Given the description of an element on the screen output the (x, y) to click on. 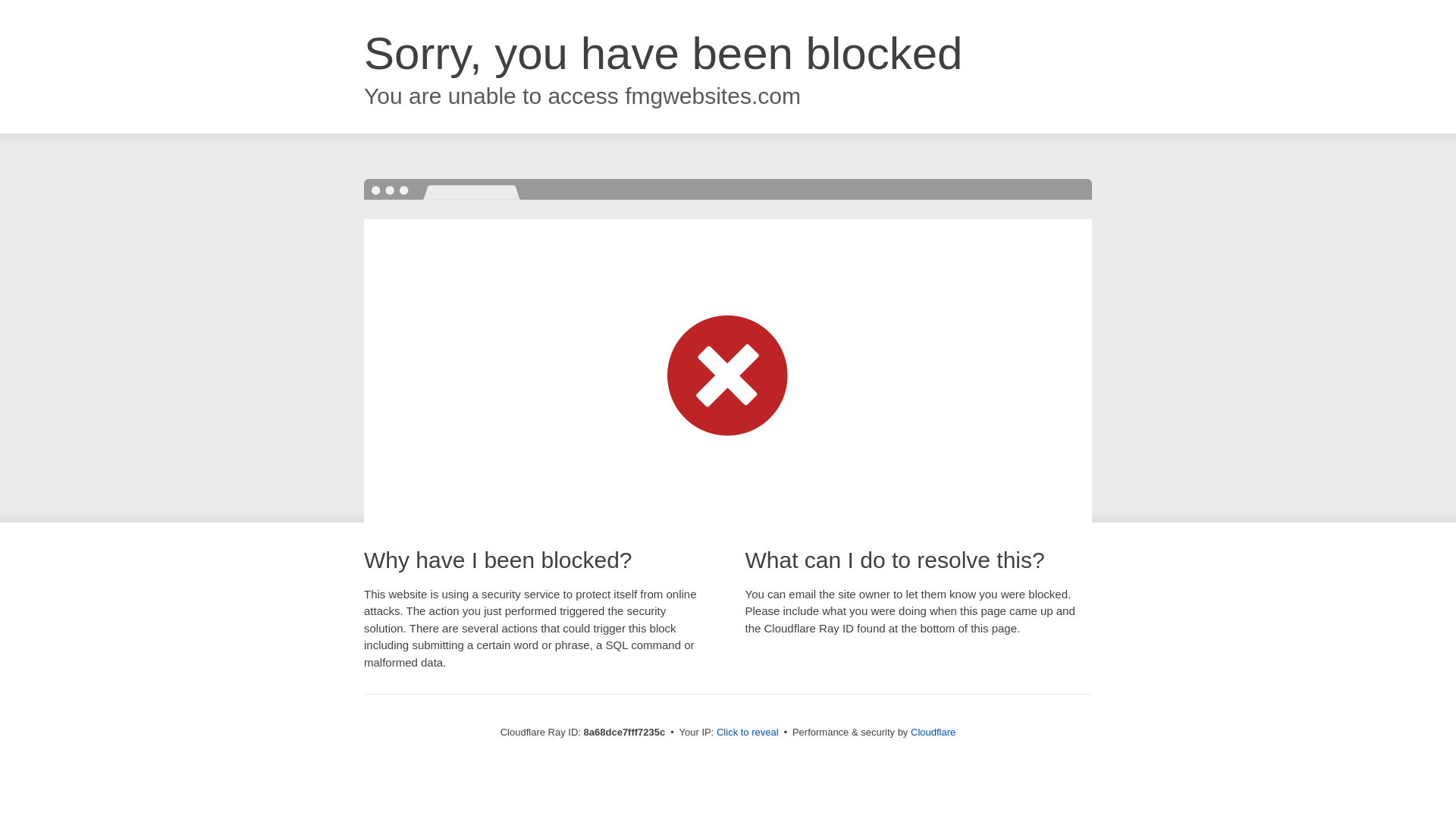
Click to reveal (747, 732)
Cloudflare (933, 731)
